Given the description of an element on the screen output the (x, y) to click on. 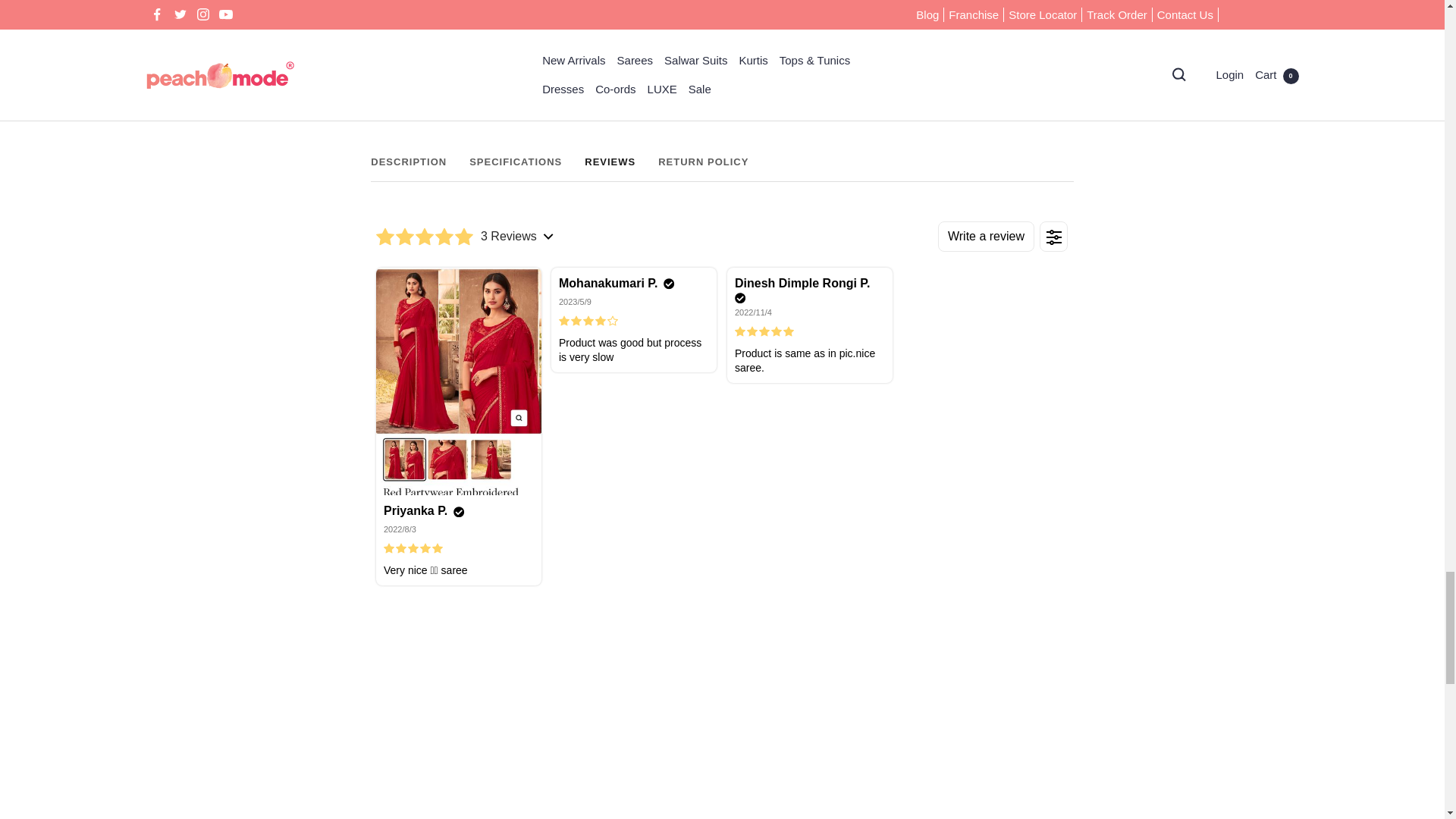
Peachmode Stores (722, 168)
Product reviews widget (1037, 41)
